Given the description of an element on the screen output the (x, y) to click on. 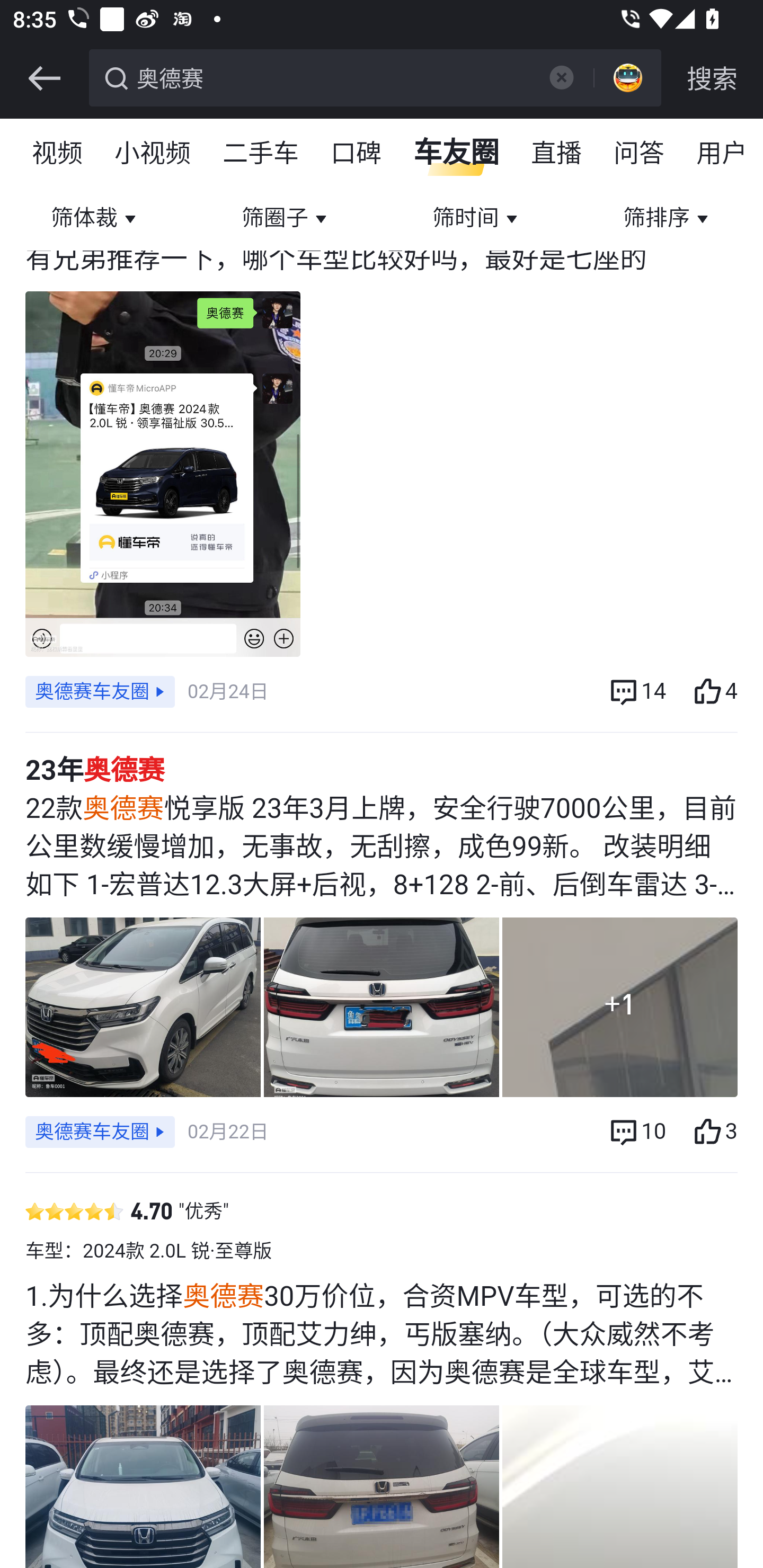
奥德赛 (331, 76)
 (560, 77)
 (44, 78)
搜索 (711, 78)
视频 (57, 154)
小视频 (153, 154)
二手车 (261, 154)
口碑 (356, 154)
车友圈 (456, 154)
直播 (556, 154)
问答 (639, 154)
用户 (721, 154)
筛体裁 (95, 219)
筛圈子 (285, 219)
筛时间 (476, 219)
筛排序 (667, 219)
奥德赛车友圈 02月24日 (146, 691)
14 (637, 691)
4 (714, 691)
奥德赛车友圈 02月22日 (146, 1131)
10 (637, 1131)
3 (714, 1131)
0a6cef570d0c4a9b892232c1deca6c23~tplv-resize:640:0 (142, 1487)
af9cb45f6d6341df9617c688f891de6b~tplv-resize:640:0 (381, 1487)
